Given the description of an element on the screen output the (x, y) to click on. 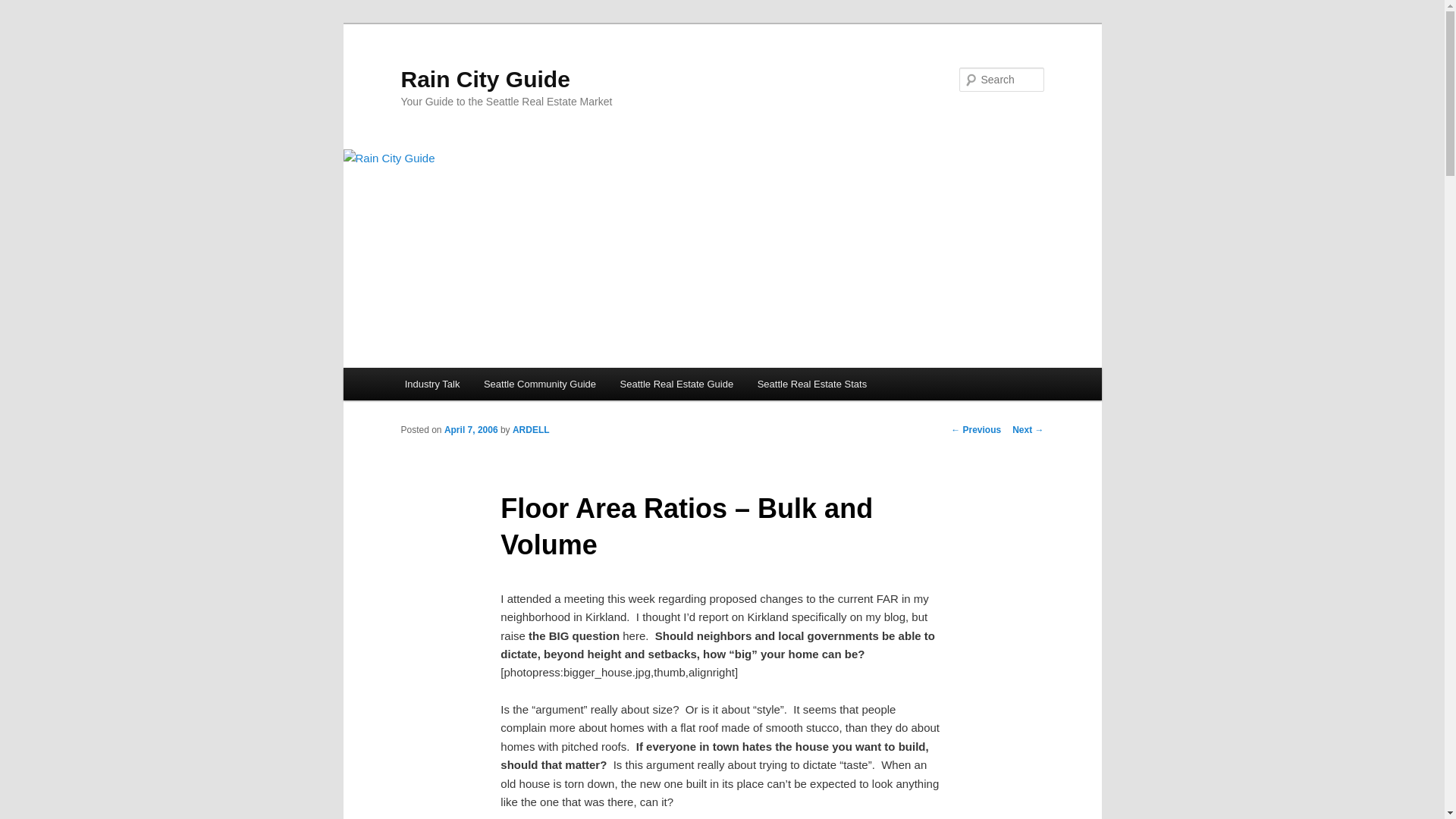
4:50 pm (470, 429)
Search (24, 8)
Rain City Guide (484, 78)
View all posts by ARDELL (531, 429)
Industry Talk (432, 383)
